Given the description of an element on the screen output the (x, y) to click on. 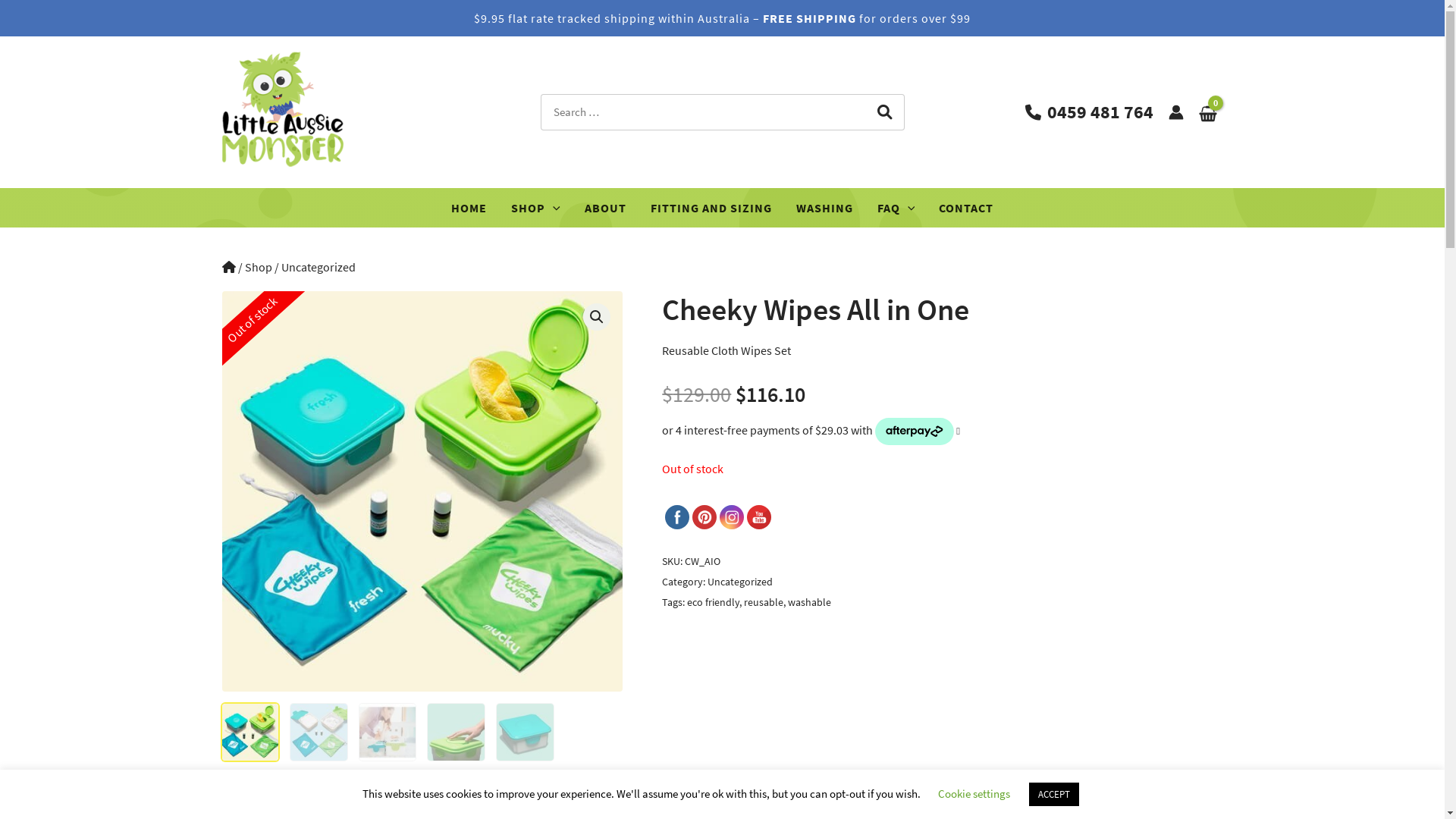
FAQ Element type: text (895, 207)
Cookie settings Element type: text (973, 793)
ABOUT Element type: text (604, 207)
HOME Element type: text (468, 207)
0459 481 764 Element type: text (1089, 112)
Uncategorized Element type: text (317, 266)
washable Element type: text (809, 601)
FITTING AND SIZING Element type: text (711, 207)
Shop Element type: text (257, 266)
WASHING Element type: text (824, 207)
ACCEPT Element type: text (1053, 794)
Cheeky Wipes All In One Cloth Wipes Kit Element type: hover (421, 491)
Facebook Element type: hover (677, 517)
YouTube Element type: hover (759, 517)
Pinterest Element type: hover (705, 517)
Search Element type: text (883, 112)
reusable Element type: text (763, 601)
CONTACT Element type: text (965, 207)
eco friendly Element type: text (713, 601)
Instagram Element type: hover (732, 517)
View your shopping cart Element type: hover (1207, 111)
SHOP Element type: text (535, 207)
Uncategorized Element type: text (739, 581)
